Given the description of an element on the screen output the (x, y) to click on. 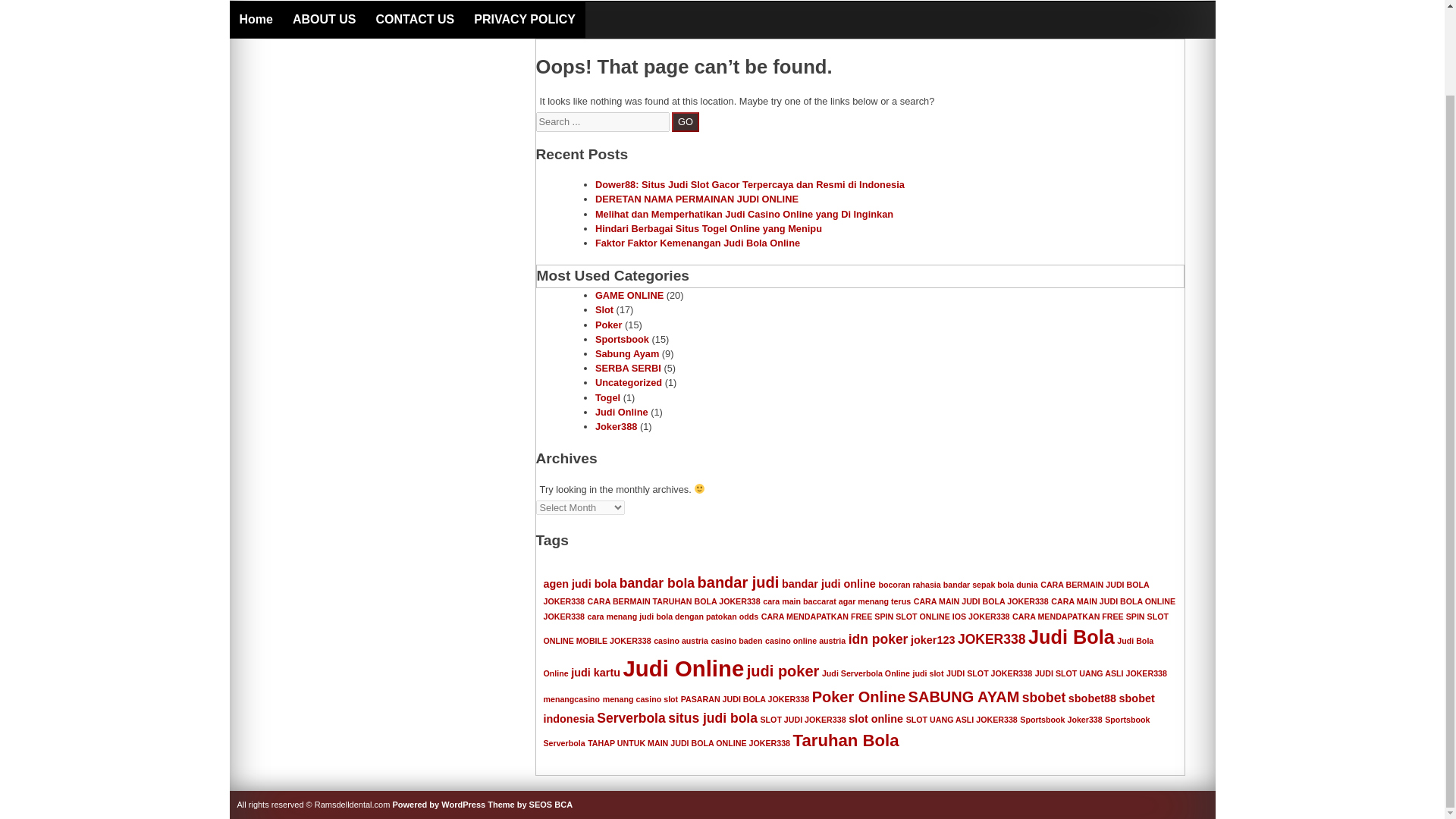
GAME ONLINE (629, 295)
CARA BERMAIN TARUHAN BOLA JOKER338 (674, 601)
Faktor Faktor Kemenangan Judi Bola Online (697, 242)
CONTACT US (415, 19)
casino baden (735, 640)
CARA BERMAIN JUDI BOLA JOKER338 (845, 592)
bocoran rahasia bandar sepak bola dunia (956, 583)
Judi Online (621, 411)
Poker (609, 324)
